Given the description of an element on the screen output the (x, y) to click on. 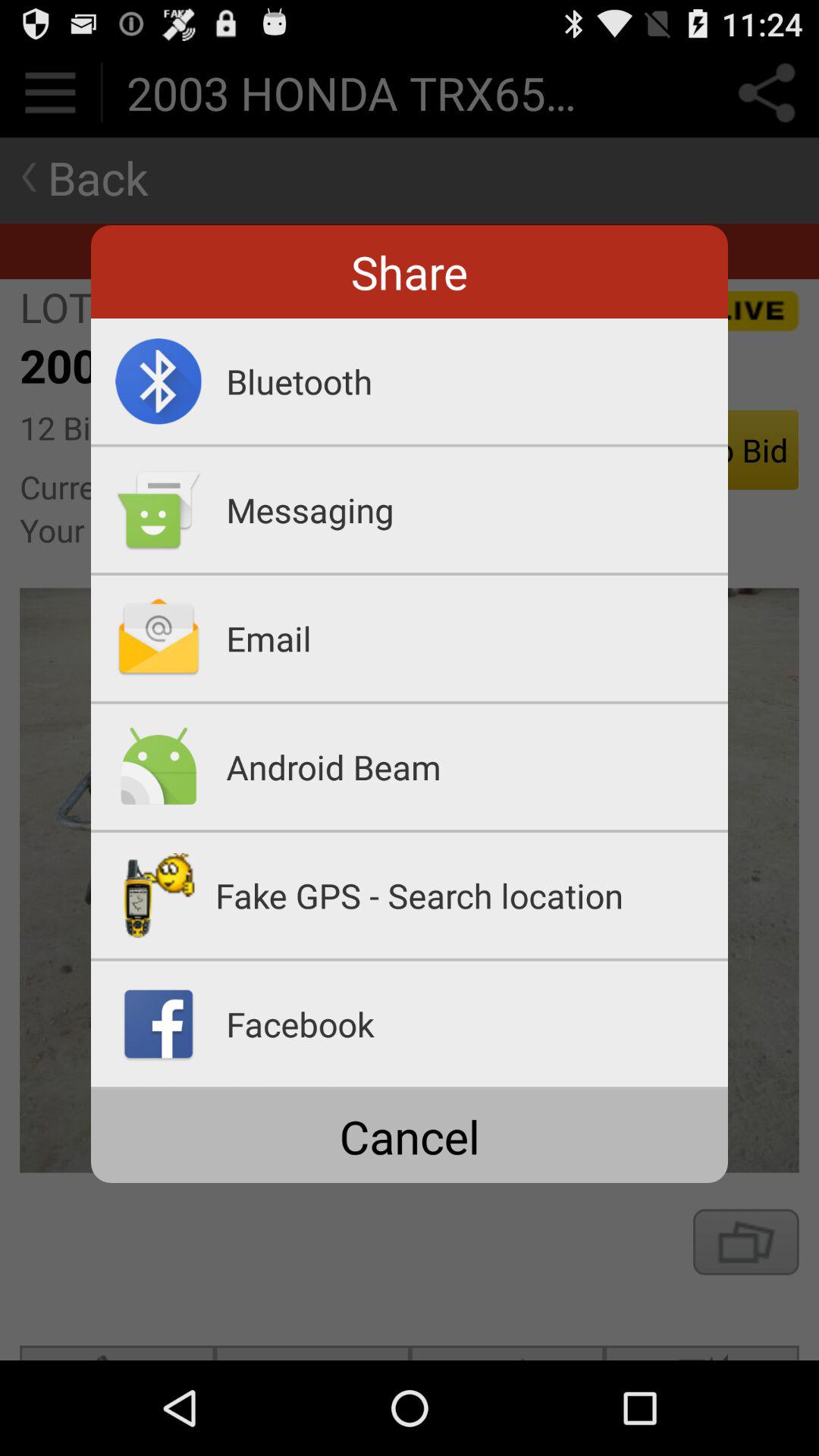
open bluetooth item (477, 381)
